Given the description of an element on the screen output the (x, y) to click on. 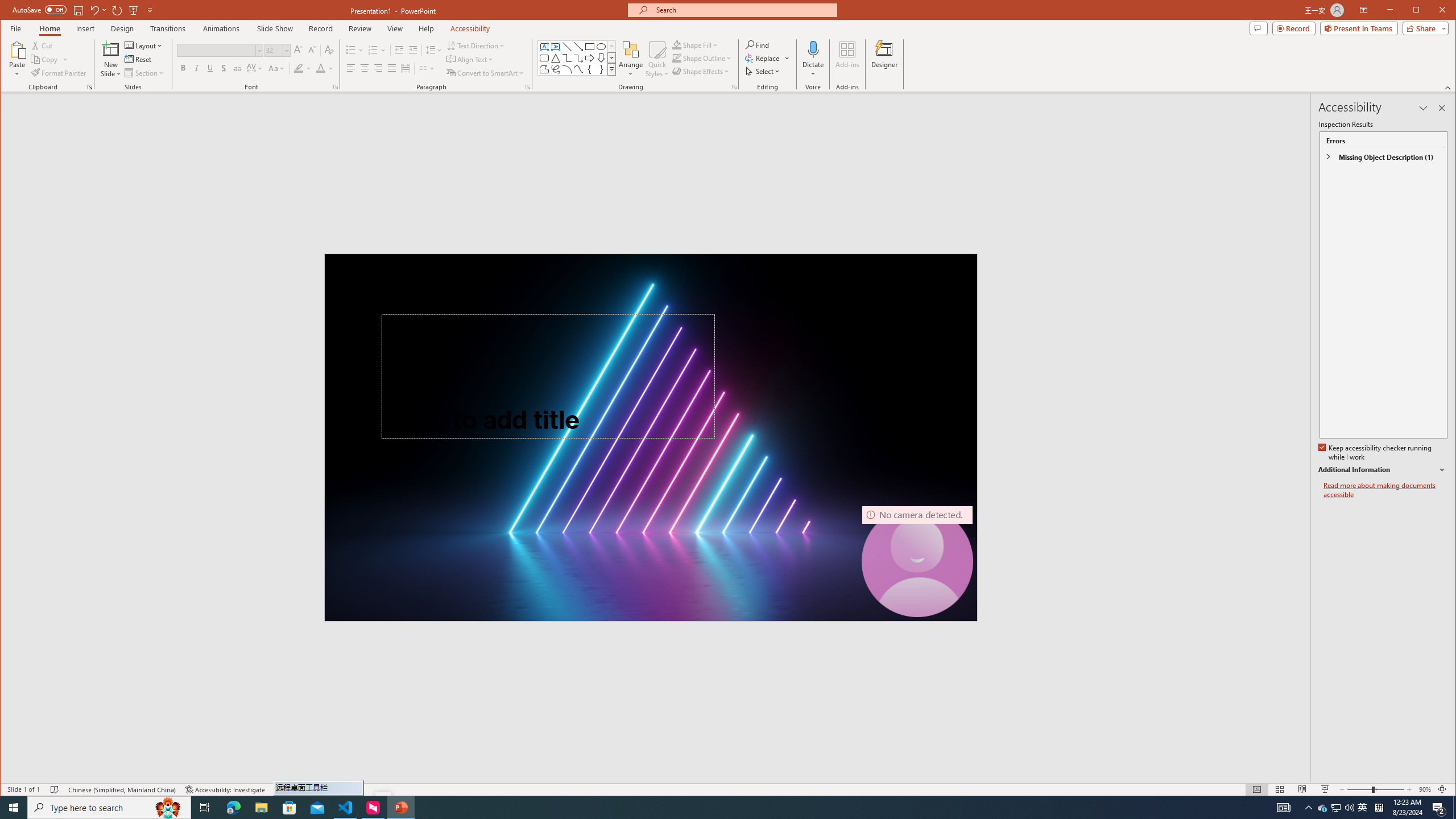
Additional Information (1382, 469)
Neon laser lights aligned to form a triangle (650, 436)
